Given the description of an element on the screen output the (x, y) to click on. 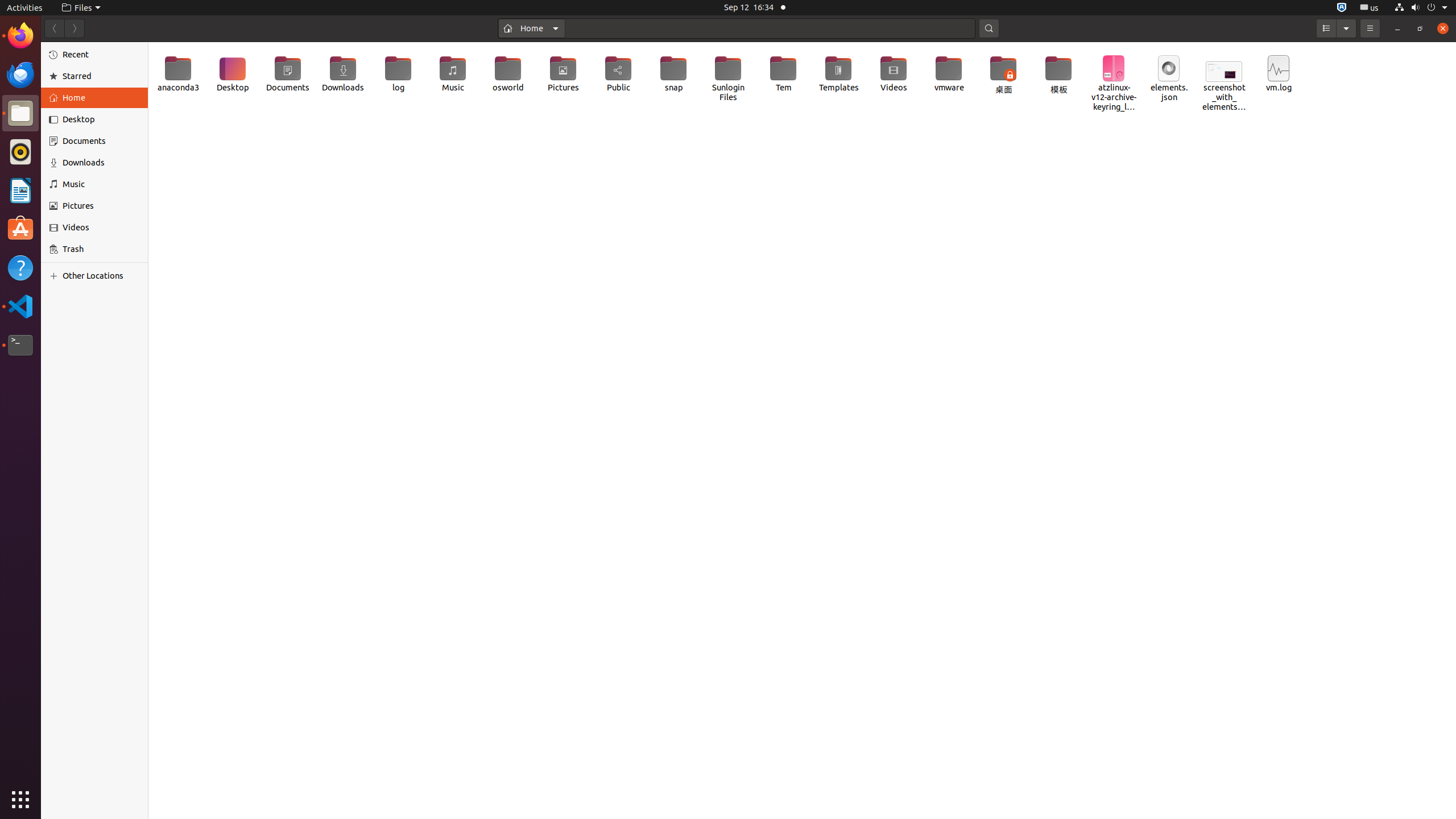
Videos Element type: canvas (893, 73)
Other Locations Element type: label (100, 275)
IsaHelpMain.desktop Element type: label (75, 170)
Documents Element type: label (100, 140)
